Given the description of an element on the screen output the (x, y) to click on. 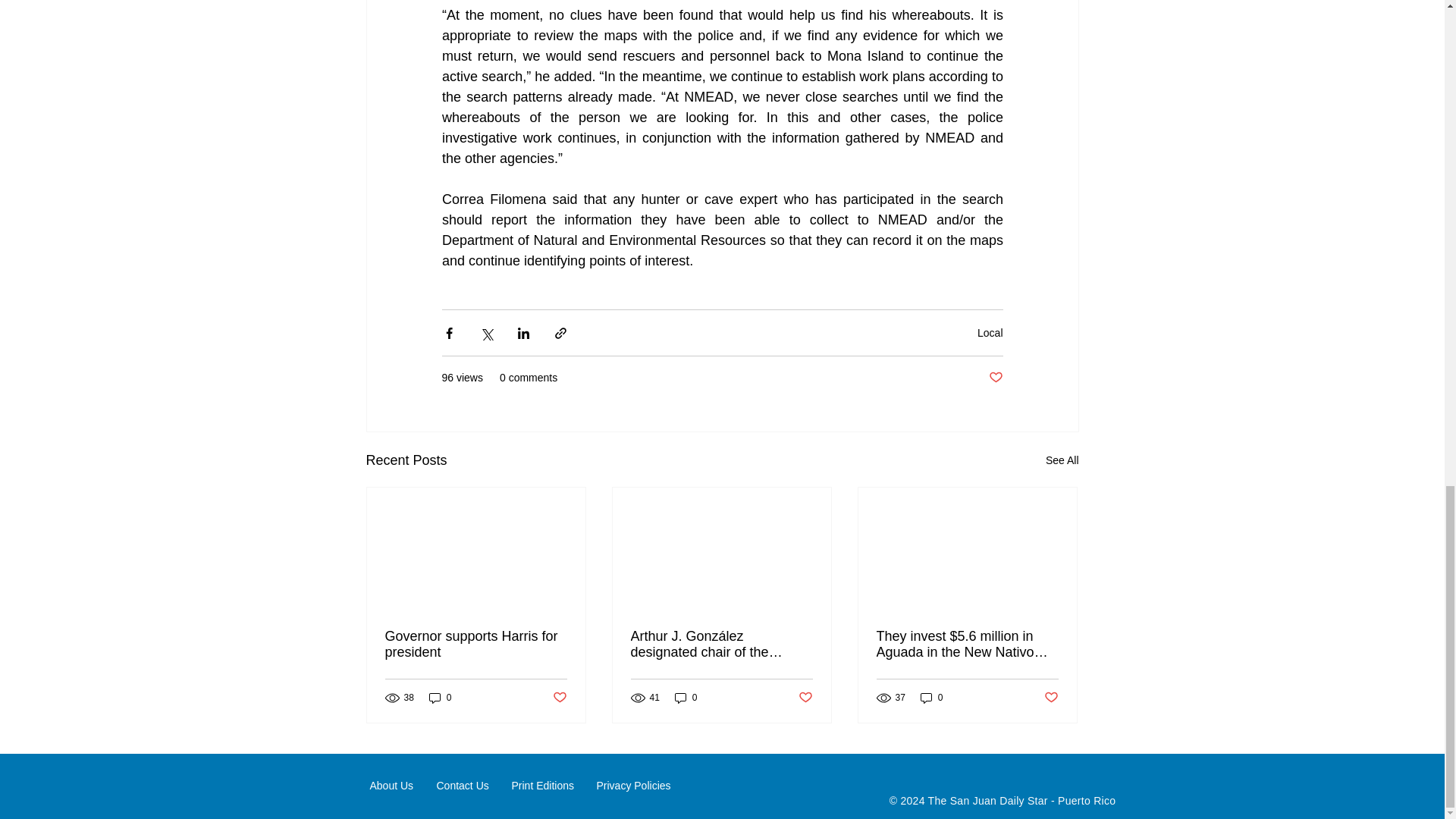
Local (989, 332)
0 (440, 698)
Post not marked as liked (995, 377)
See All (1061, 460)
Governor supports Harris for president (476, 644)
Post not marked as liked (558, 697)
0 (685, 698)
